Given the description of an element on the screen output the (x, y) to click on. 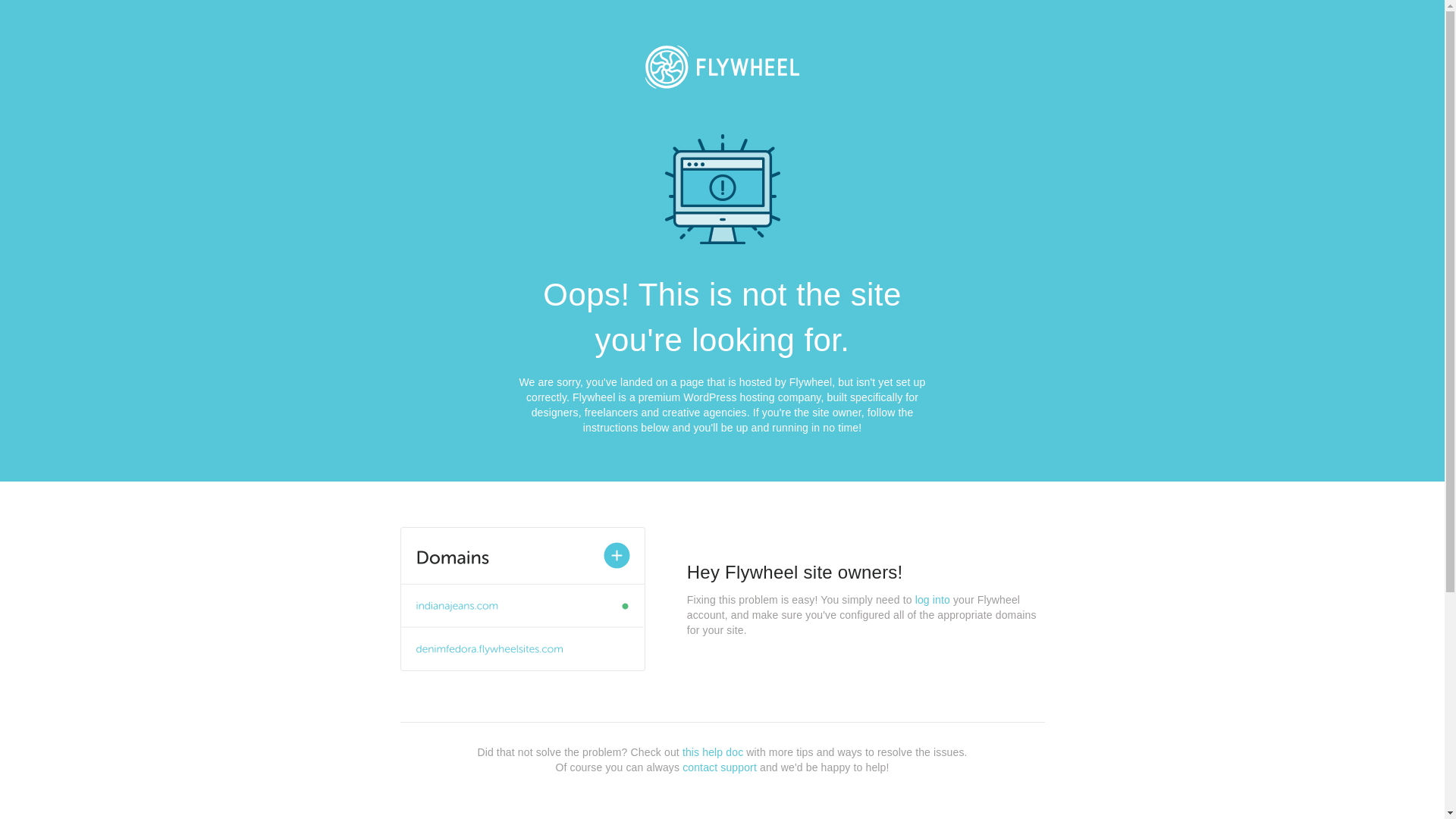
log into (932, 599)
this help doc (712, 752)
contact support (719, 767)
